Given the description of an element on the screen output the (x, y) to click on. 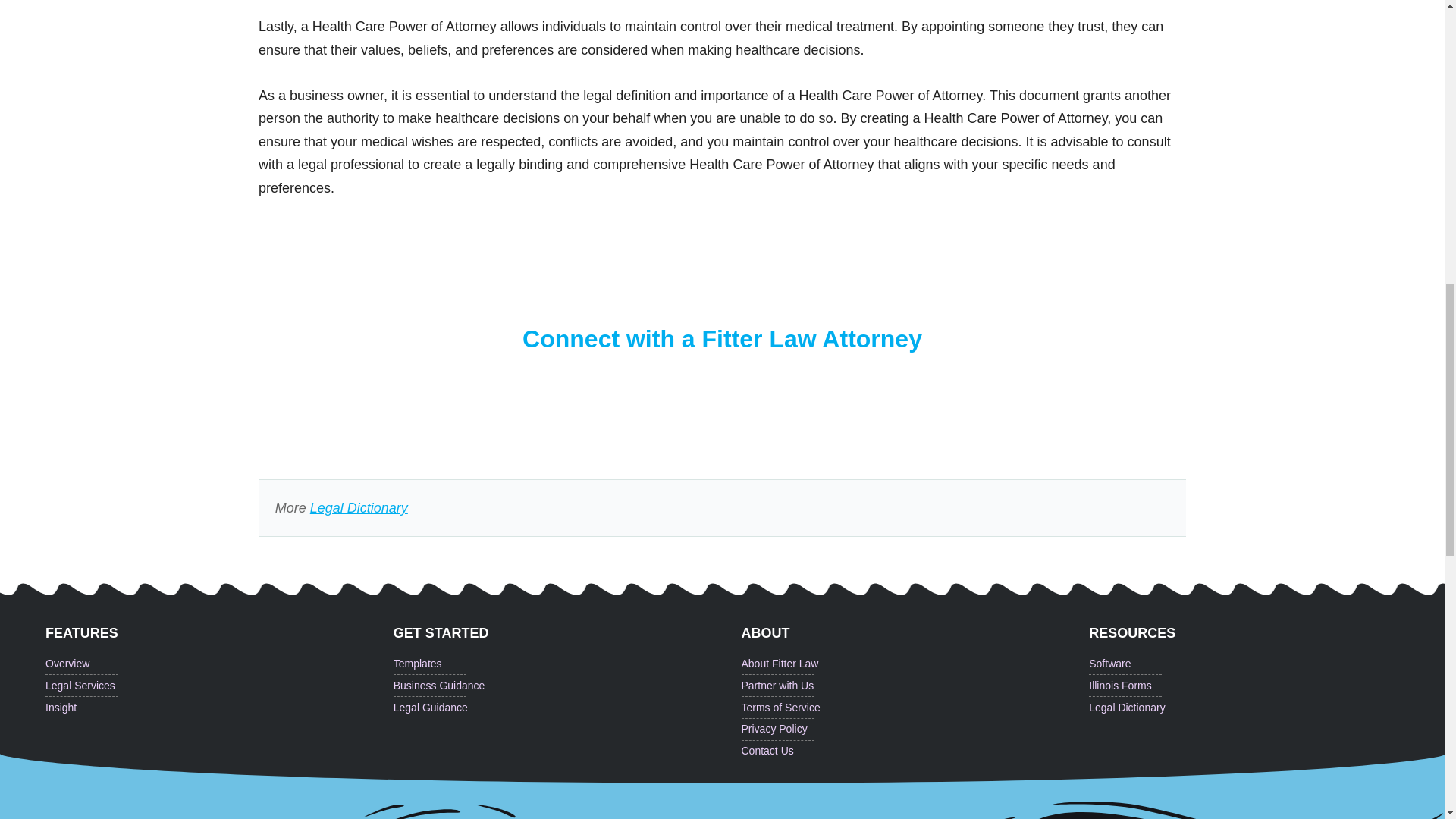
Insight (219, 708)
Privacy Policy (915, 729)
Terms of Service (915, 708)
Legal Dictionary (358, 507)
Contact Us (915, 751)
Legal Services (219, 686)
About Fitter Law (915, 664)
Legal Guidance (567, 708)
Overview (219, 664)
Legal Dictionary (1263, 708)
Partner with Us (915, 686)
Connect with a Fitter Law Attorney (721, 338)
Templates (567, 664)
Software (1263, 664)
Illinois Forms (1263, 686)
